Given the description of an element on the screen output the (x, y) to click on. 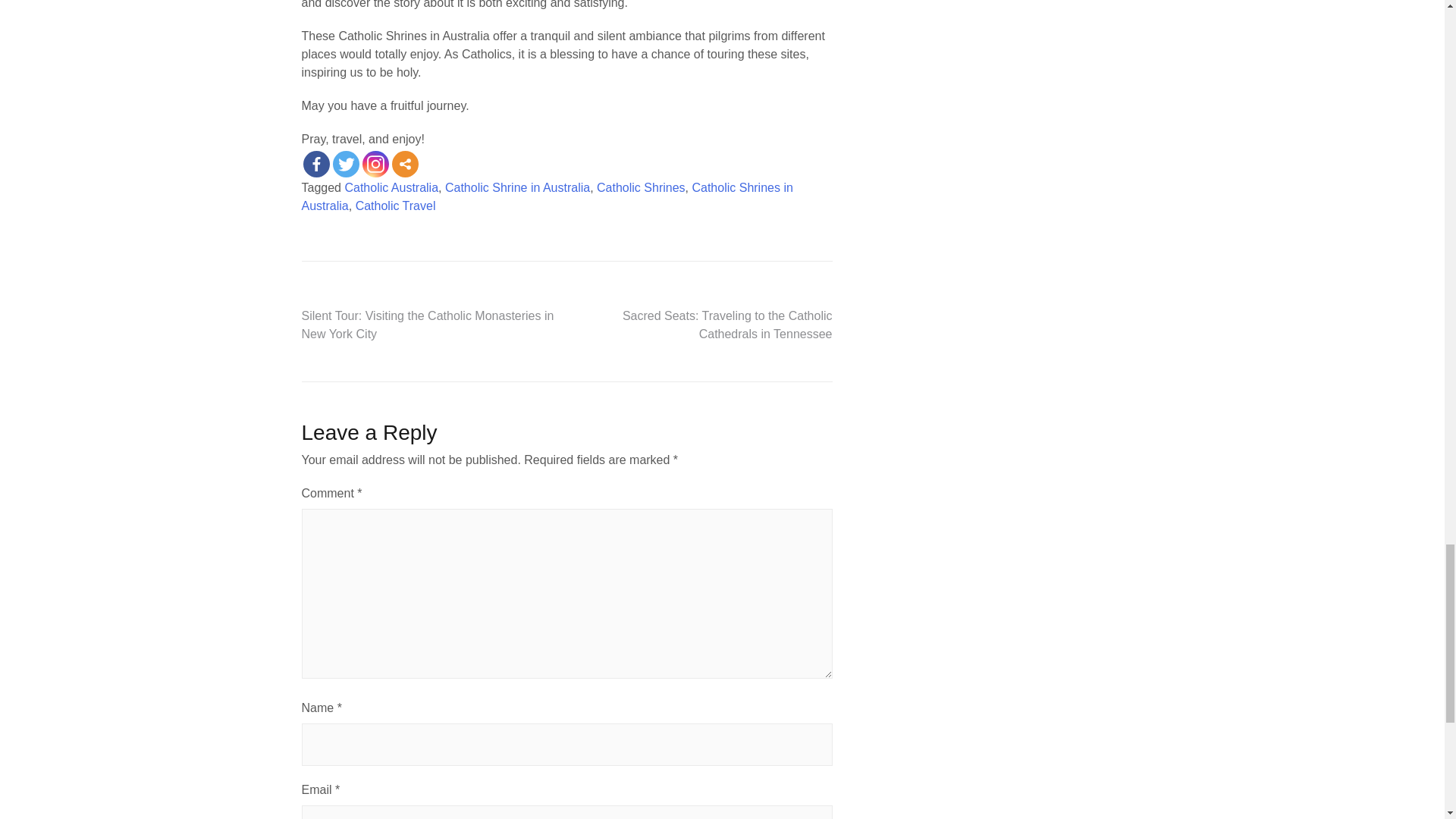
Catholic Travel (395, 205)
Catholic Australia (390, 187)
More (404, 163)
Twitter (344, 163)
Catholic Shrines in Australia (547, 196)
Catholic Shrines (640, 187)
Instagram (375, 163)
Catholic Shrine in Australia (517, 187)
